Given the description of an element on the screen output the (x, y) to click on. 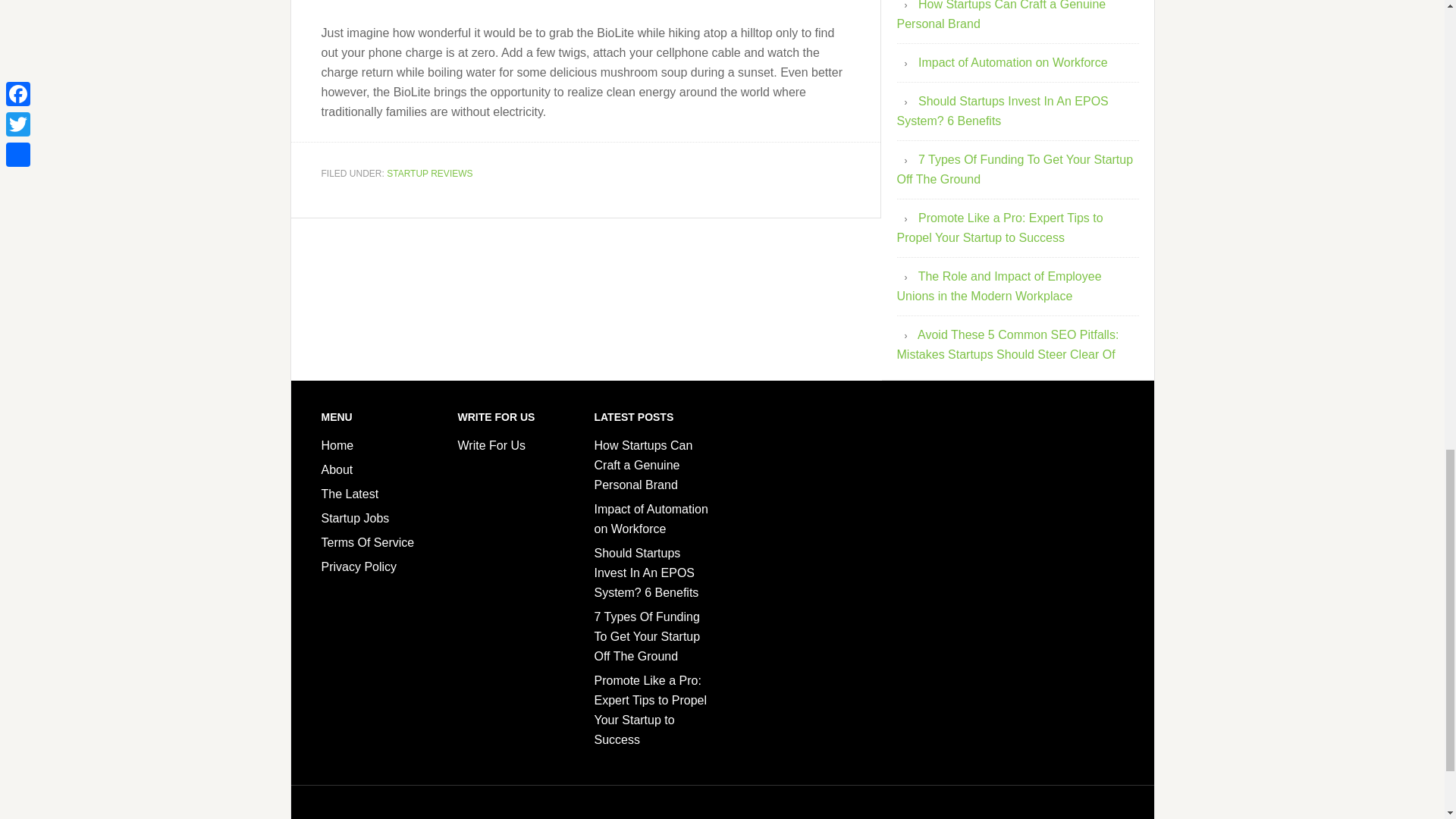
Impact of Automation on Workforce (1013, 62)
STARTUP REVIEWS (429, 173)
About (337, 469)
7 Types Of Funding To Get Your Startup Off The Ground (1014, 169)
Startup Jobs (355, 517)
Home (337, 445)
Write For Us (491, 445)
Should Startups Invest In An EPOS System? 6 Benefits (646, 572)
Impact of Automation on Workforce (650, 518)
